Given the description of an element on the screen output the (x, y) to click on. 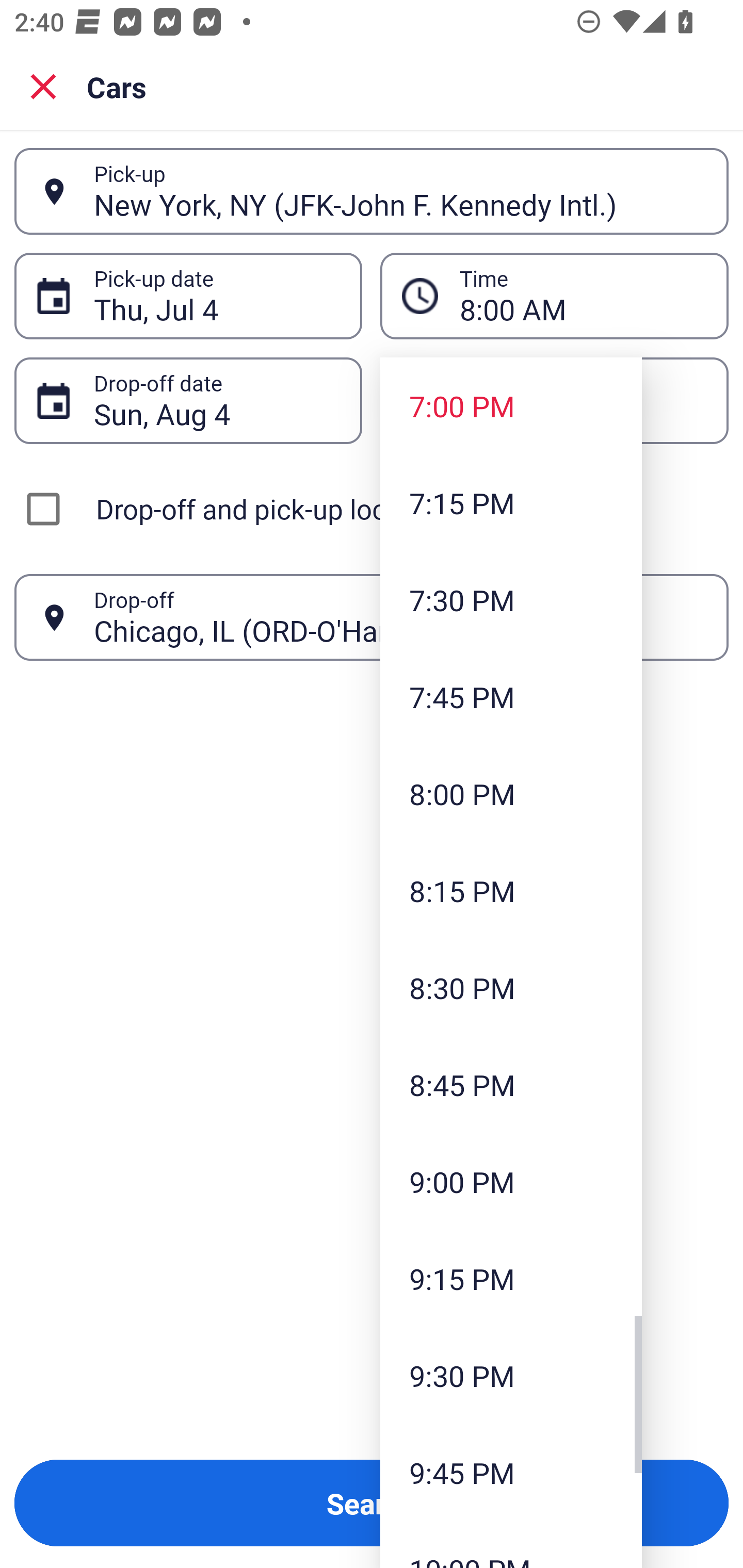
7:00 PM (510, 405)
7:15 PM (510, 502)
7:30 PM (510, 599)
7:45 PM (510, 695)
8:00 PM (510, 793)
8:15 PM (510, 890)
8:30 PM (510, 987)
8:45 PM (510, 1084)
9:00 PM (510, 1181)
9:15 PM (510, 1278)
9:30 PM (510, 1374)
9:45 PM (510, 1471)
